Given the description of an element on the screen output the (x, y) to click on. 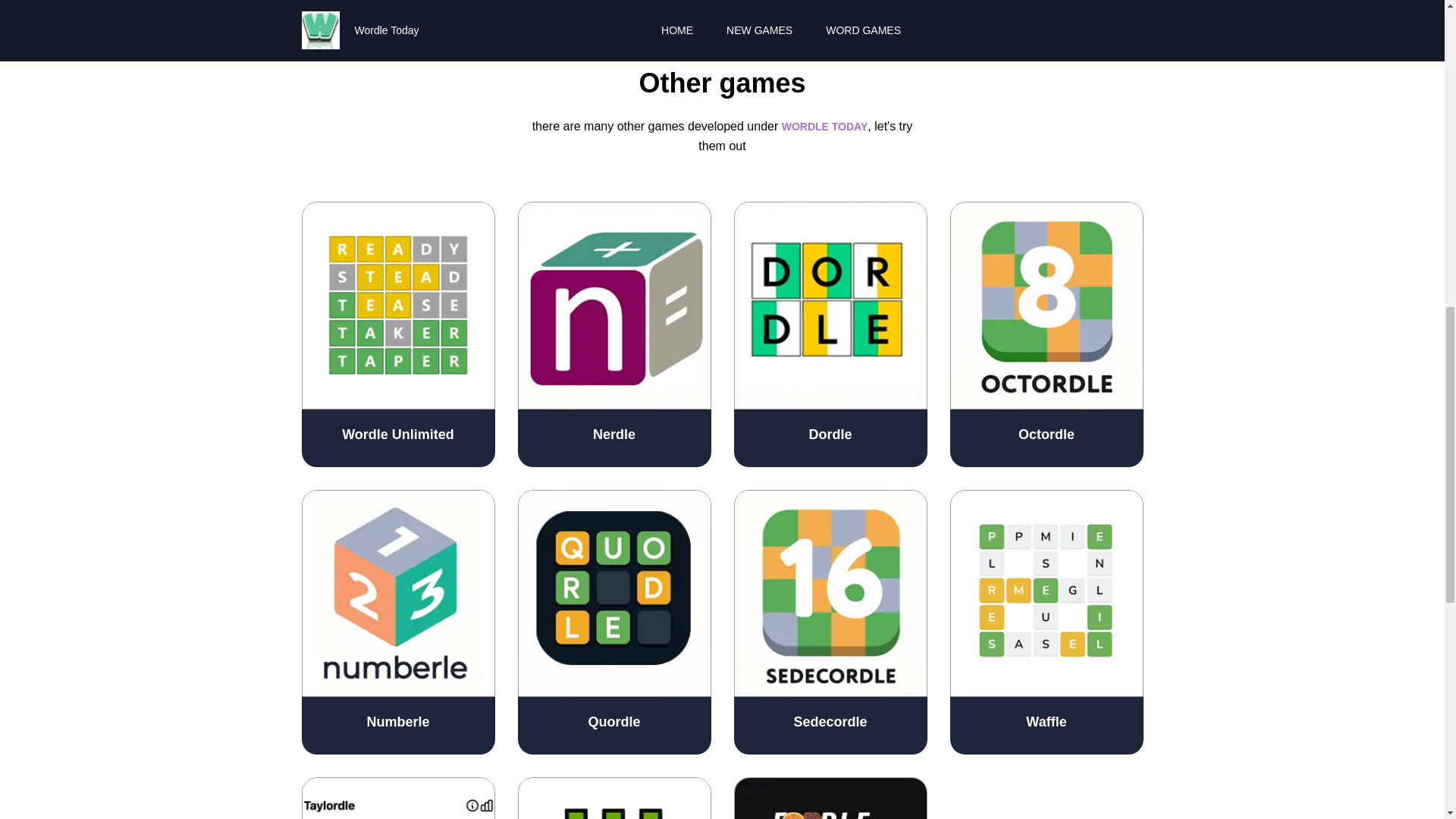
Play Weaver (613, 798)
Play Taylordle (398, 798)
Foodle (830, 798)
Weaver (613, 798)
Play Foodle (830, 798)
Taylordle (398, 798)
